Given the description of an element on the screen output the (x, y) to click on. 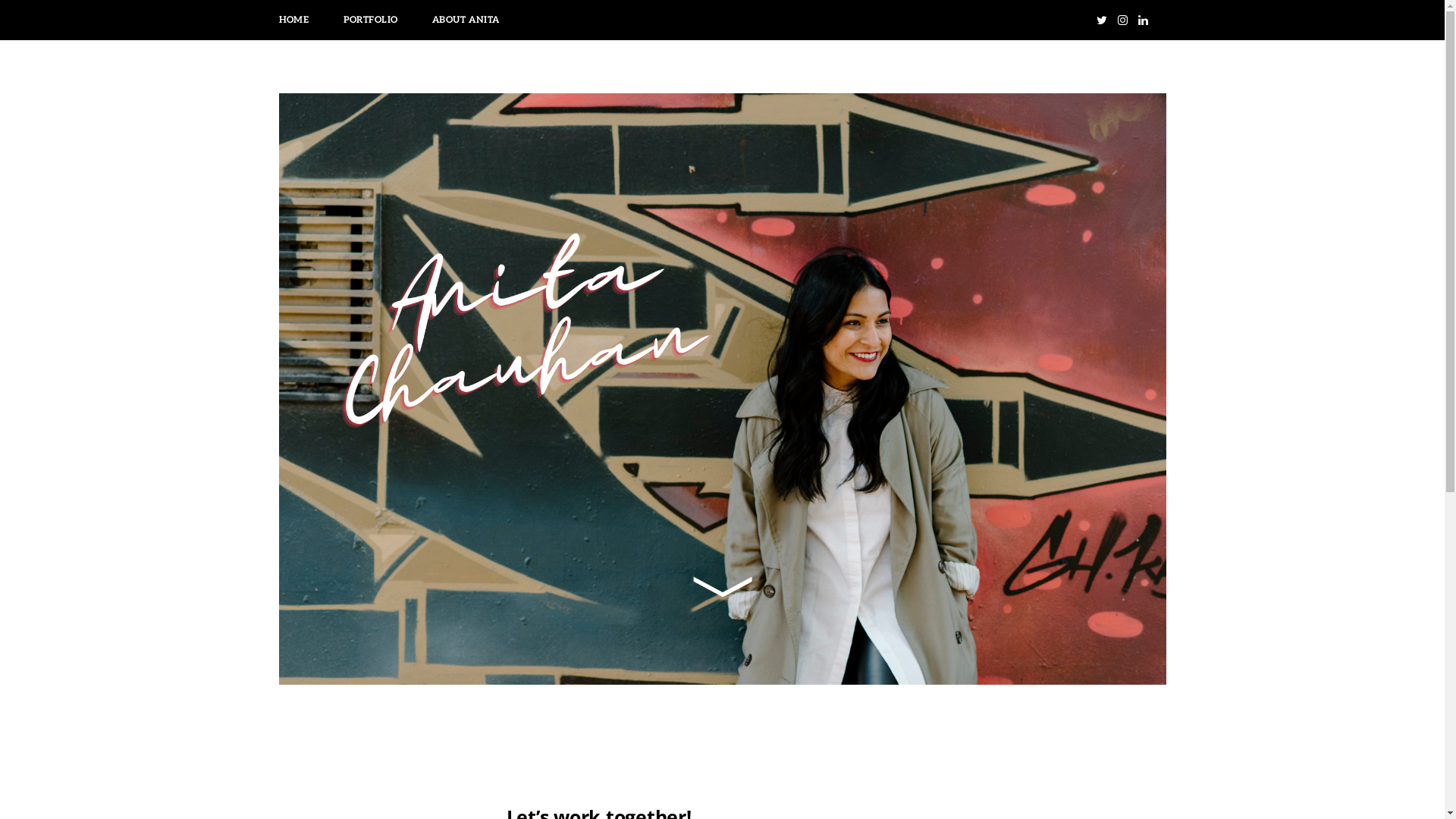
LinkedIn Element type: text (1141, 20)
CONTACT ME Element type: text (564, 20)
HOME Element type: text (293, 20)
ABOUT ANITA Element type: text (465, 20)
PORTFOLIO Element type: text (370, 20)
Instagram Element type: text (1122, 20)
Twitter Element type: text (1101, 20)
